Given the description of an element on the screen output the (x, y) to click on. 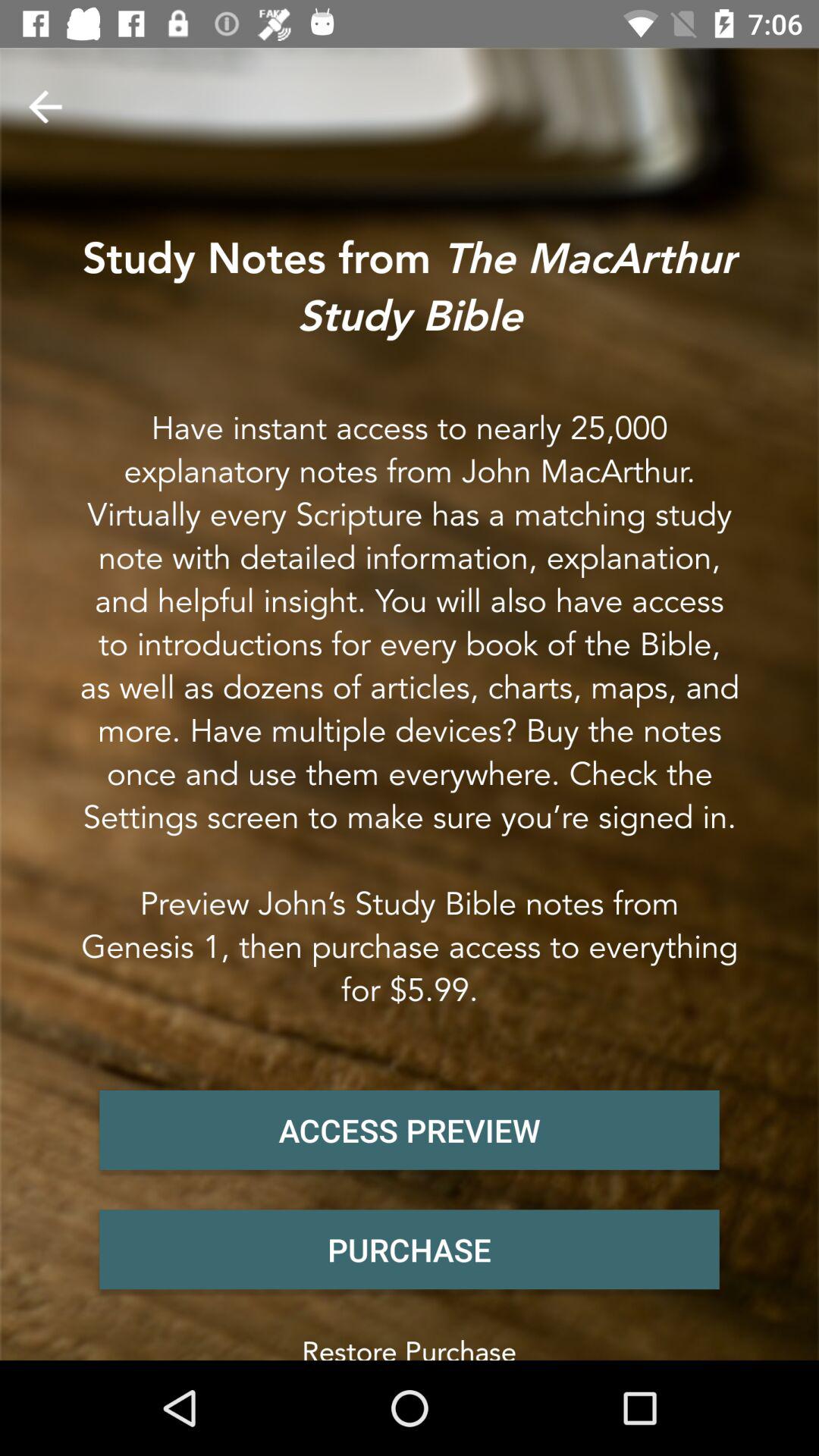
choose icon above purchase (409, 1129)
